Given the description of an element on the screen output the (x, y) to click on. 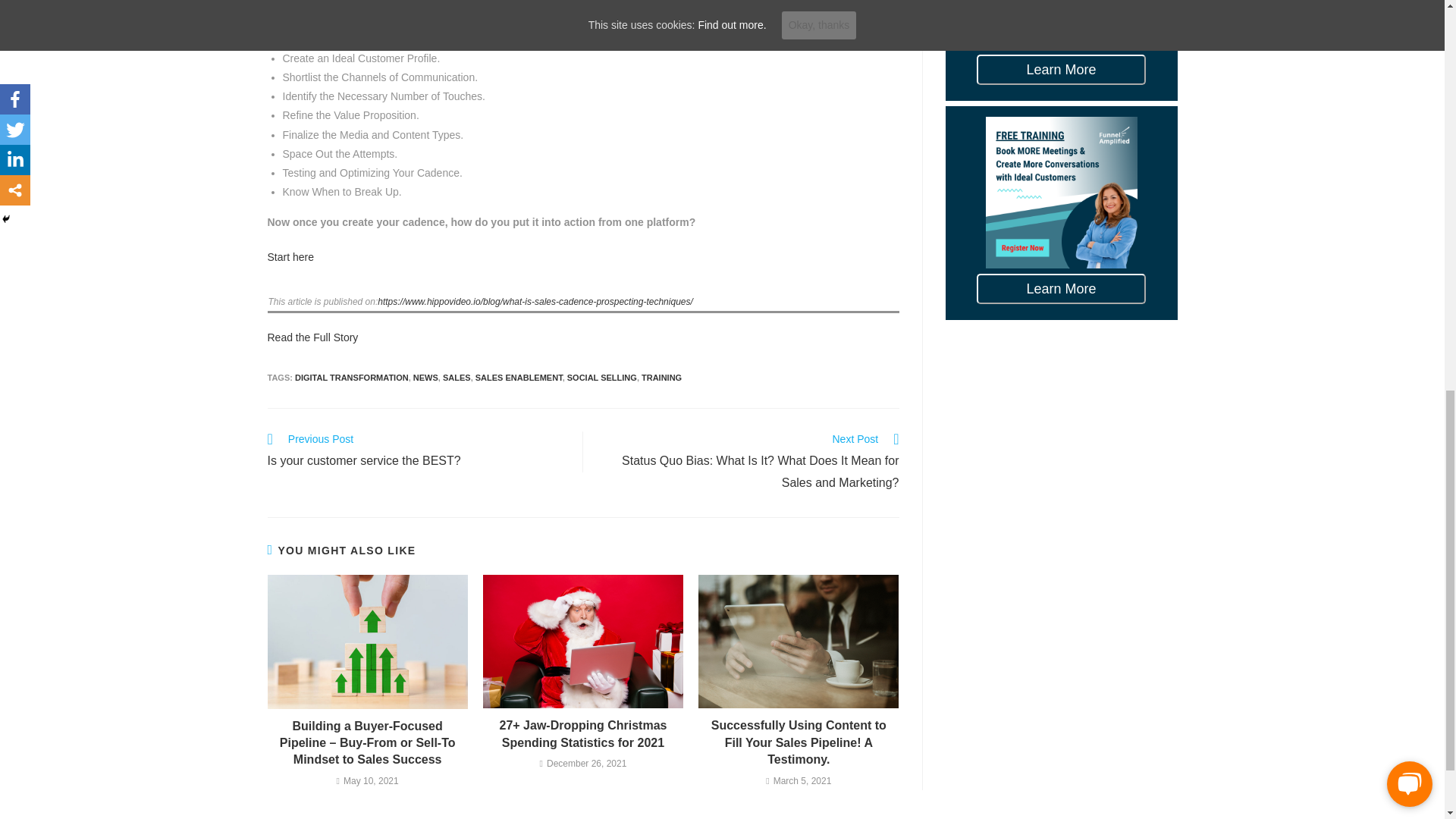
4aee79881a99dcdf397278814ca3b190 (366, 641)
SOCIAL SELLING (602, 377)
TRAINING (661, 377)
NEWS (425, 377)
f896f84e133531760987053254c3fb21 (582, 641)
Read the Full Story (312, 337)
Start here (289, 256)
SALES ENABLEMENT (519, 377)
DIGITAL TRANSFORMATION (352, 377)
SALES (456, 377)
bde8089b1c0d39d076a21c928b9937e3 (798, 641)
